Given the description of an element on the screen output the (x, y) to click on. 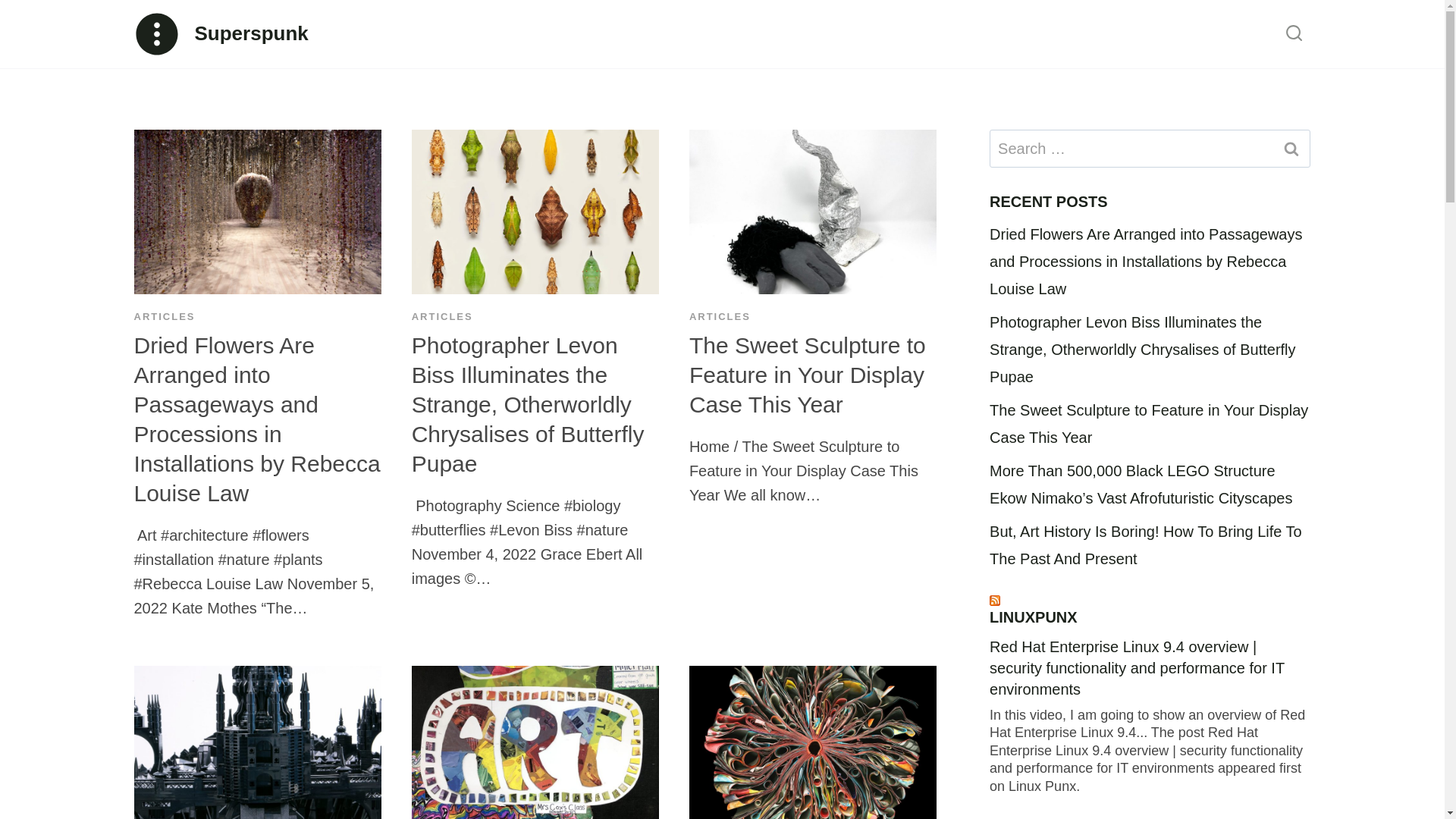
Superspunk (220, 33)
ARTICLES (442, 316)
ARTICLES (719, 316)
Search (1291, 148)
Search (1291, 148)
ARTICLES (164, 316)
